Given the description of an element on the screen output the (x, y) to click on. 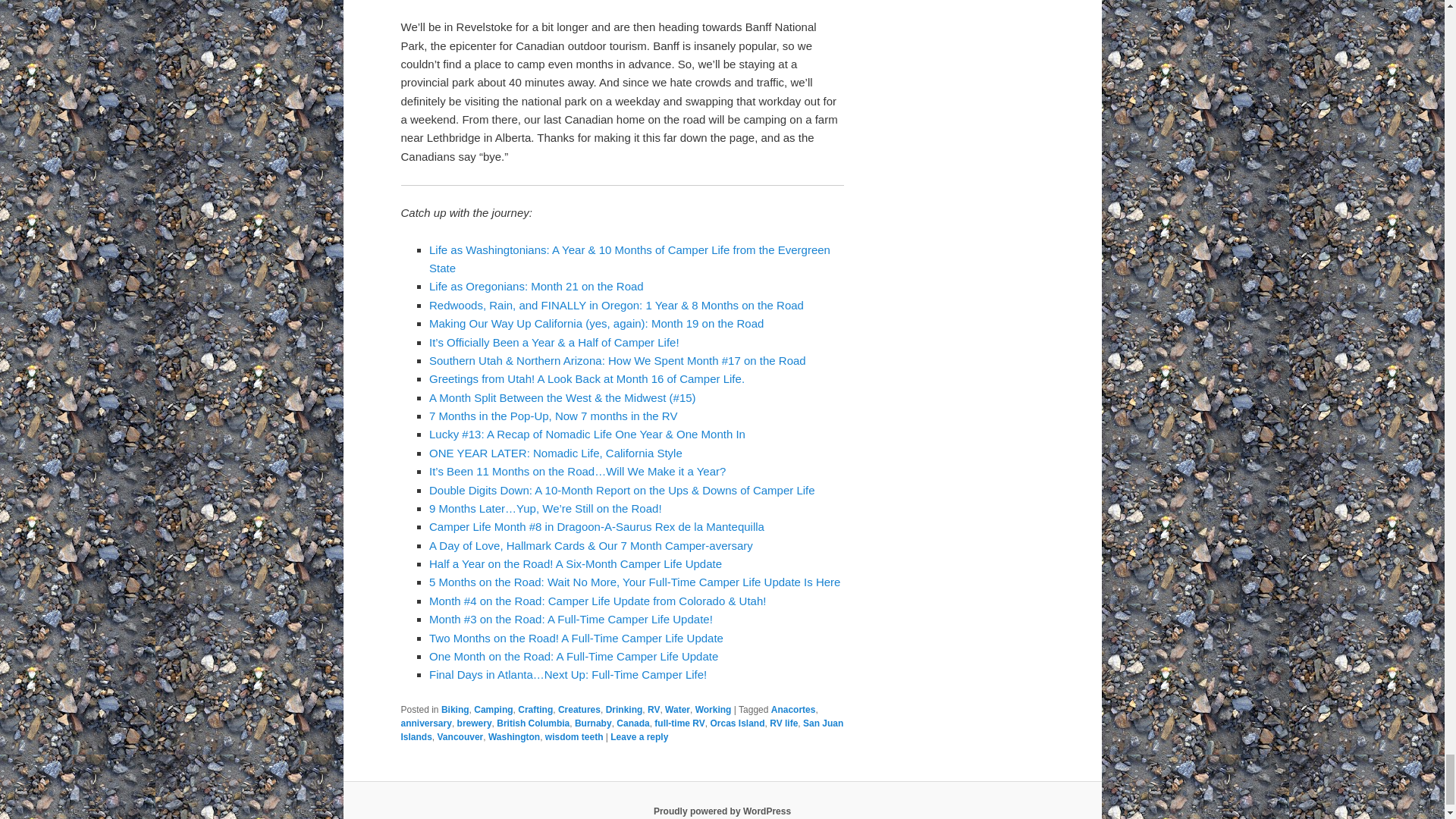
Half a Year on the Road! A Six-Month Camper Life Update (575, 563)
Life as Oregonians: Month 21 on the Road (536, 286)
Camping (493, 709)
Semantic Personal Publishing Platform (721, 810)
ONE YEAR LATER: Nomadic Life, California Style (555, 452)
One Month on the Road: A Full-Time Camper Life Update (573, 656)
7 Months in the Pop-Up, Now 7 months in the RV (553, 415)
Biking (454, 709)
Greetings from Utah! A Look Back at Month 16 of Camper Life. (586, 378)
Crafting (535, 709)
Two Months on the Road! A Full-Time Camper Life Update (576, 636)
